Given the description of an element on the screen output the (x, y) to click on. 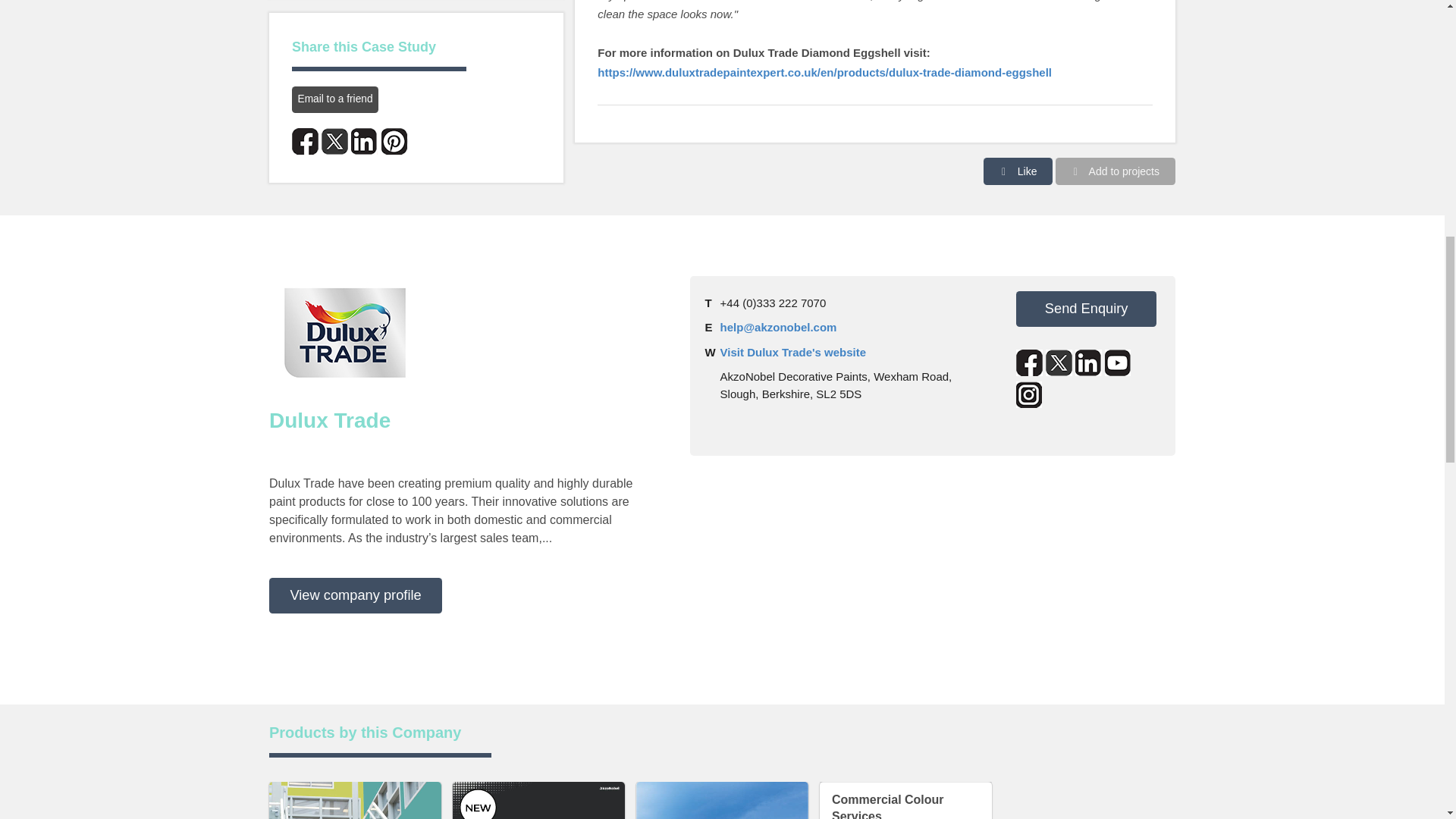
Share on Pinterest (394, 140)
Dulux Trade Diamond Technology (355, 800)
Follow Dulux Trade on LinkedIn (1088, 362)
Share on Twitter (334, 140)
Follow Dulux Trade on YouTube (1118, 362)
Follow Dulux Trade on Facebook (1029, 362)
Share on LinkedIn (363, 140)
Dulux Trade (344, 332)
Share on Facebook (305, 140)
Follow Dulux Trade on Twitter (1058, 362)
Follow Dulux Trade on Instagram (1029, 394)
